Given the description of an element on the screen output the (x, y) to click on. 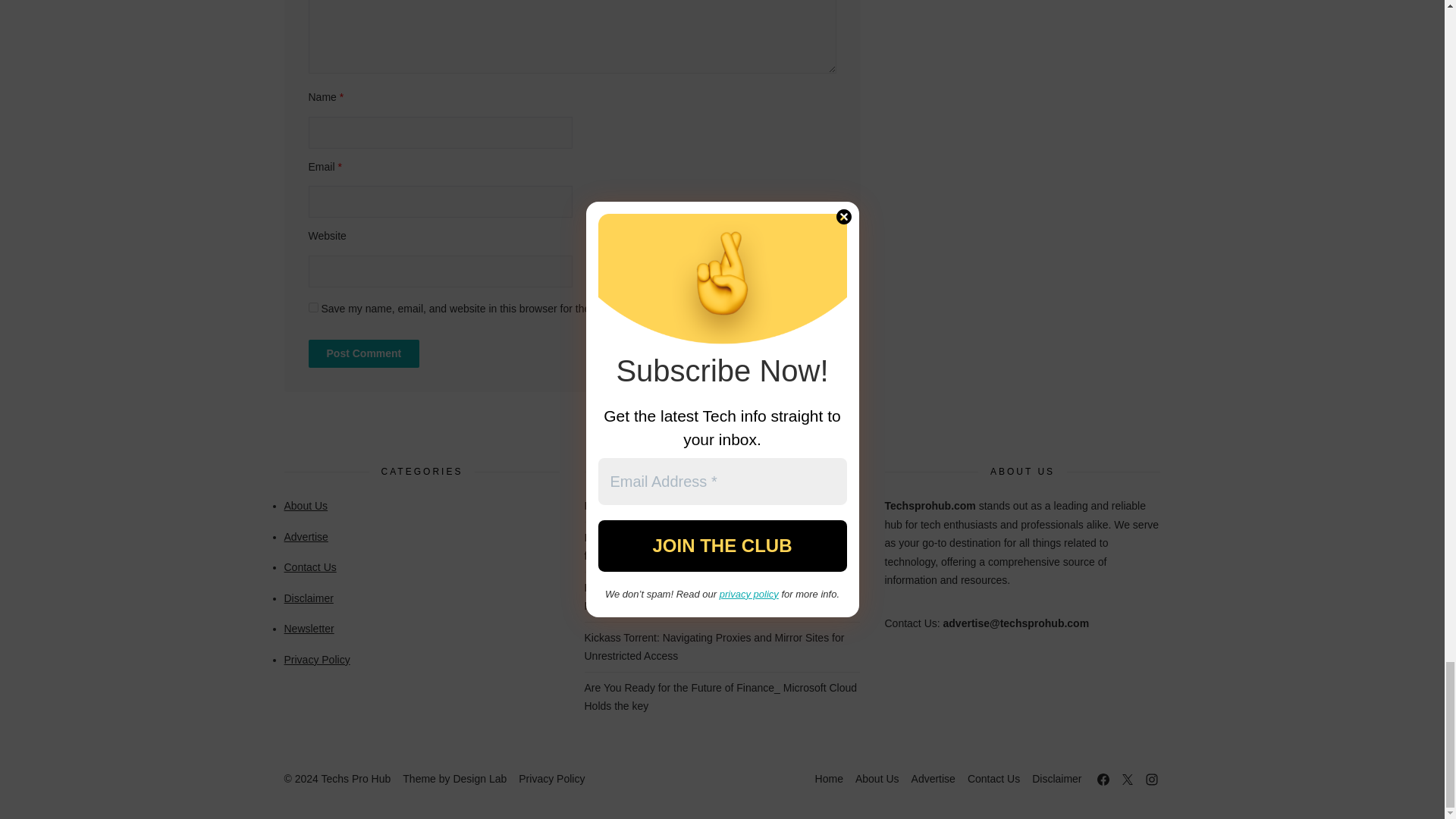
yes (312, 307)
Post Comment (363, 353)
